Given the description of an element on the screen output the (x, y) to click on. 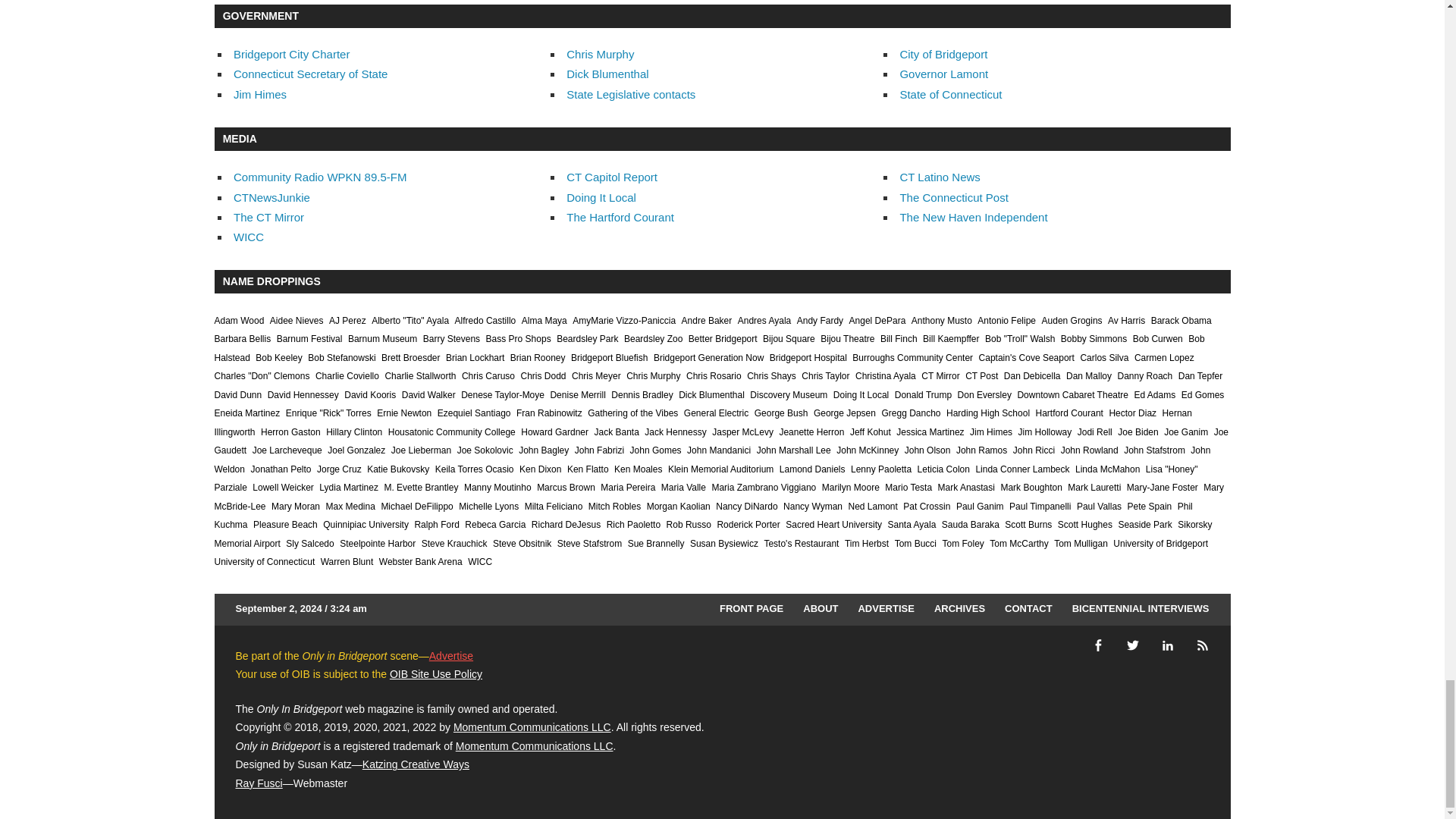
Contact your State Legislators (630, 93)
State of Connecticut (950, 93)
CT Capitol Report (612, 176)
The official Bridgeport website (943, 53)
Secretary of the State (309, 73)
